Given the description of an element on the screen output the (x, y) to click on. 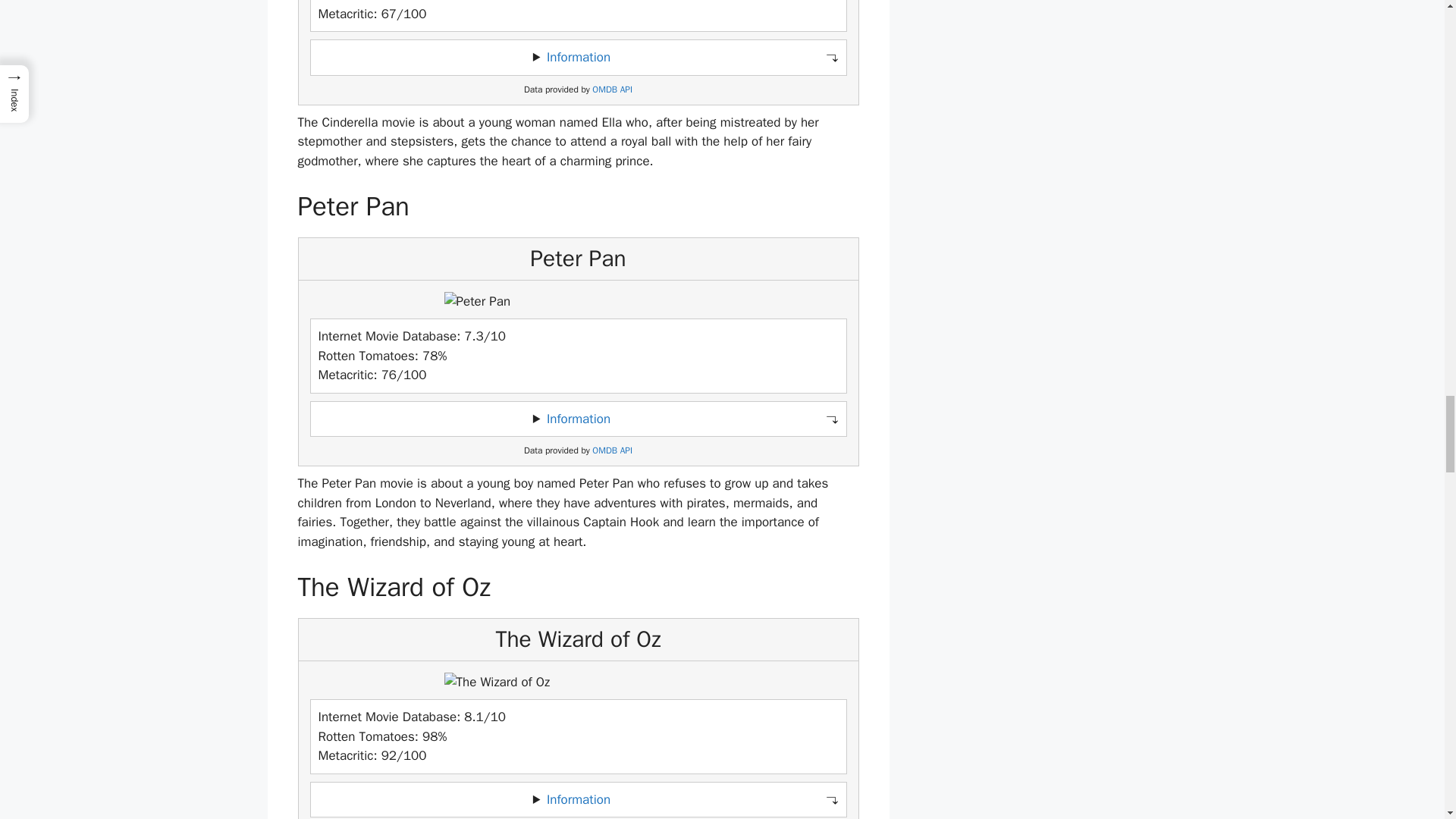
OMDB API (611, 450)
OMDB API (611, 89)
Information (578, 799)
Information (578, 57)
Information (578, 418)
